Given the description of an element on the screen output the (x, y) to click on. 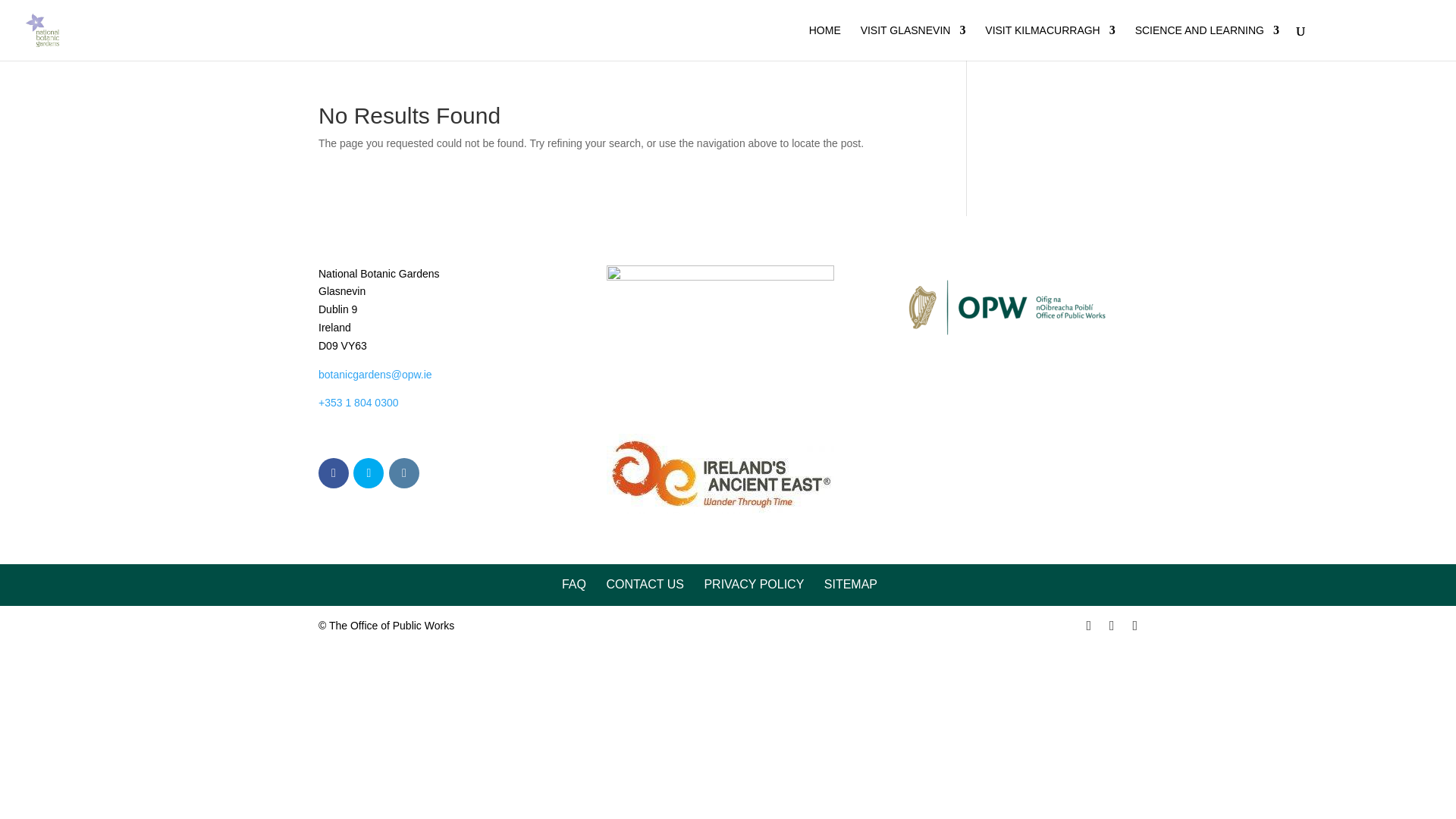
VISIT KILMACURRAGH (1050, 42)
HOME (825, 42)
VISIT GLASNEVIN (913, 42)
SCIENCE AND LEARNING (1207, 42)
